Given the description of an element on the screen output the (x, y) to click on. 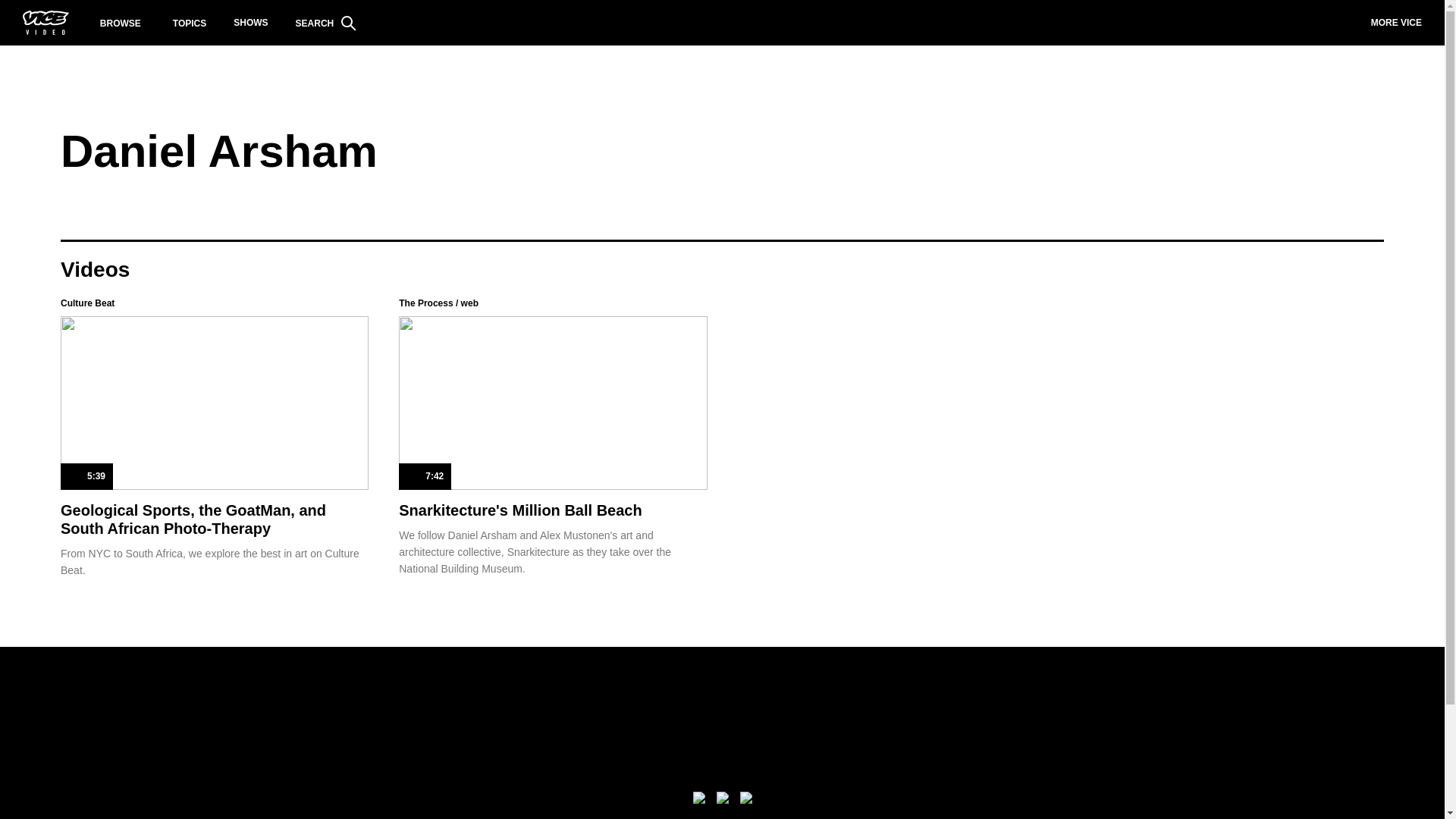
SEARCH (325, 23)
SHOWS (250, 22)
BROWSE (120, 23)
MORE VICE (1395, 22)
TOPICS (189, 23)
